Given the description of an element on the screen output the (x, y) to click on. 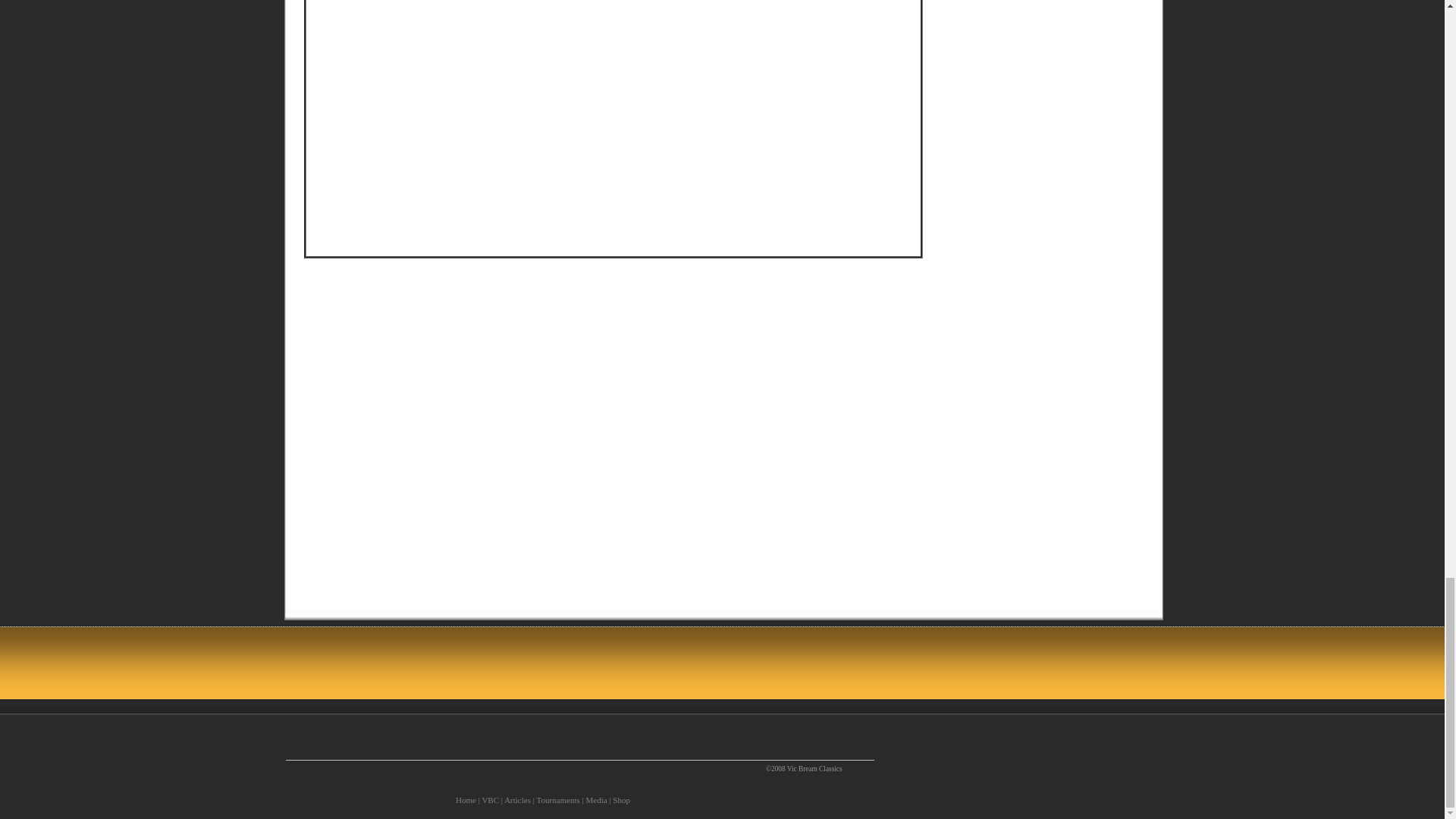
Articles (517, 799)
Tournaments (557, 799)
VBC (490, 799)
Media (596, 799)
Home (465, 799)
Shop (621, 799)
